Given the description of an element on the screen output the (x, y) to click on. 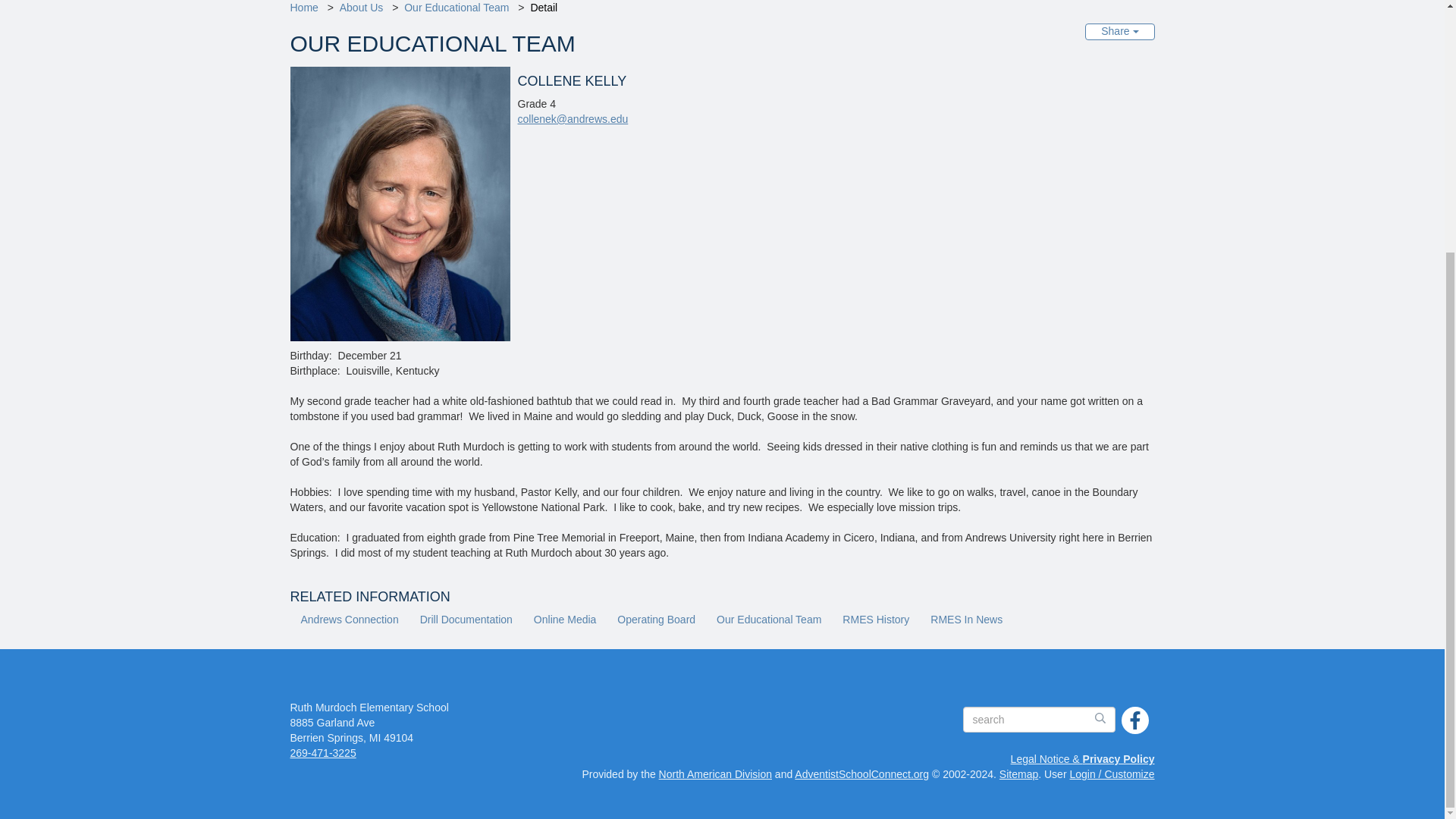
Share (1119, 31)
Drill Documentation (465, 620)
North American Division (715, 774)
About Us (361, 7)
RMES In News (966, 620)
AdventistSchoolConnect.org (861, 774)
Andrews Connection (349, 620)
Home (303, 7)
Sitemap (1018, 774)
269-471-3225 (322, 752)
RMES History (875, 620)
Our Educational Team (456, 7)
Online Media (564, 620)
Detail (543, 7)
Our Educational Team (768, 620)
